Given the description of an element on the screen output the (x, y) to click on. 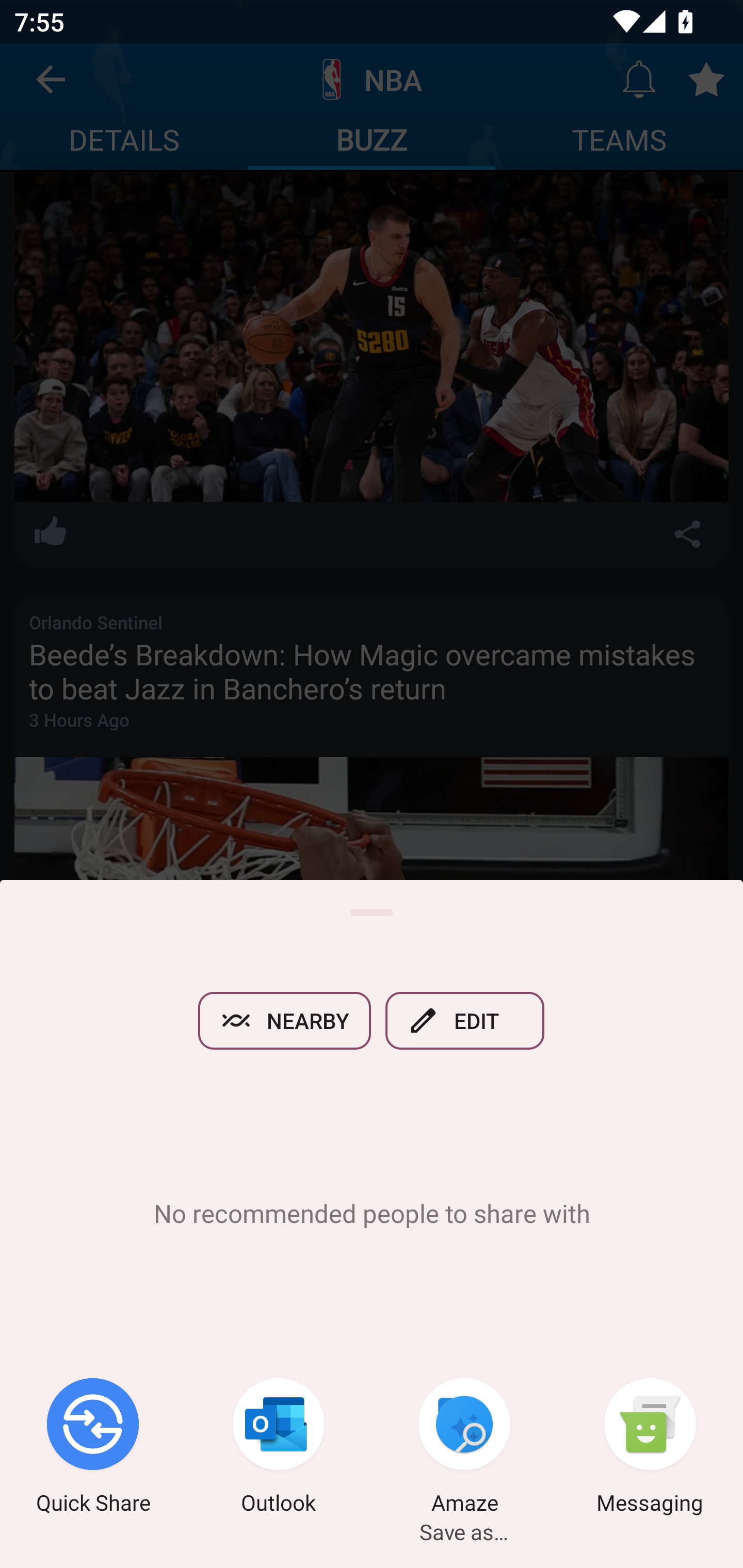
NEARBY (284, 1020)
EDIT (464, 1020)
Quick Share (92, 1448)
Outlook (278, 1448)
Amaze Save as… (464, 1448)
Messaging (650, 1448)
